Given the description of an element on the screen output the (x, y) to click on. 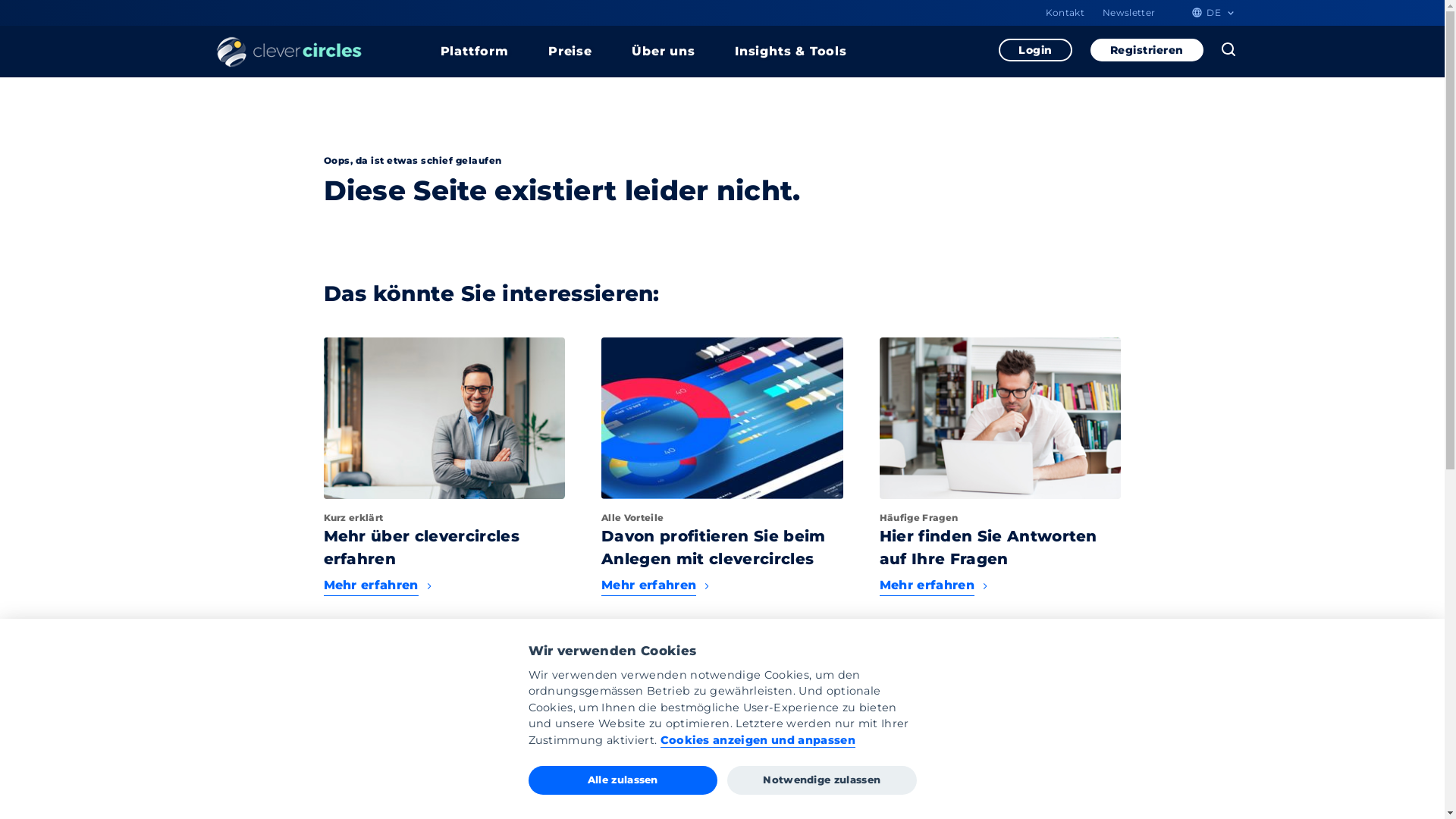
Alle zulassen Element type: text (621, 779)
Insights & Tools Element type: text (790, 51)
Login Element type: text (1035, 49)
Plattform Element type: text (473, 51)
Mehr erfahren Element type: text (1000, 585)
Preise Element type: text (570, 51)
Registrieren Element type: text (1146, 49)
Cookies anzeigen und anpassen Element type: text (757, 740)
Kontakt Element type: text (1064, 12)
Mehr erfahren Element type: text (443, 585)
Mehr erfahren Element type: text (722, 585)
Newsletter Element type: text (1128, 12)
Notwendige zulassen Element type: text (821, 779)
DE Element type: text (1211, 15)
